Given the description of an element on the screen output the (x, y) to click on. 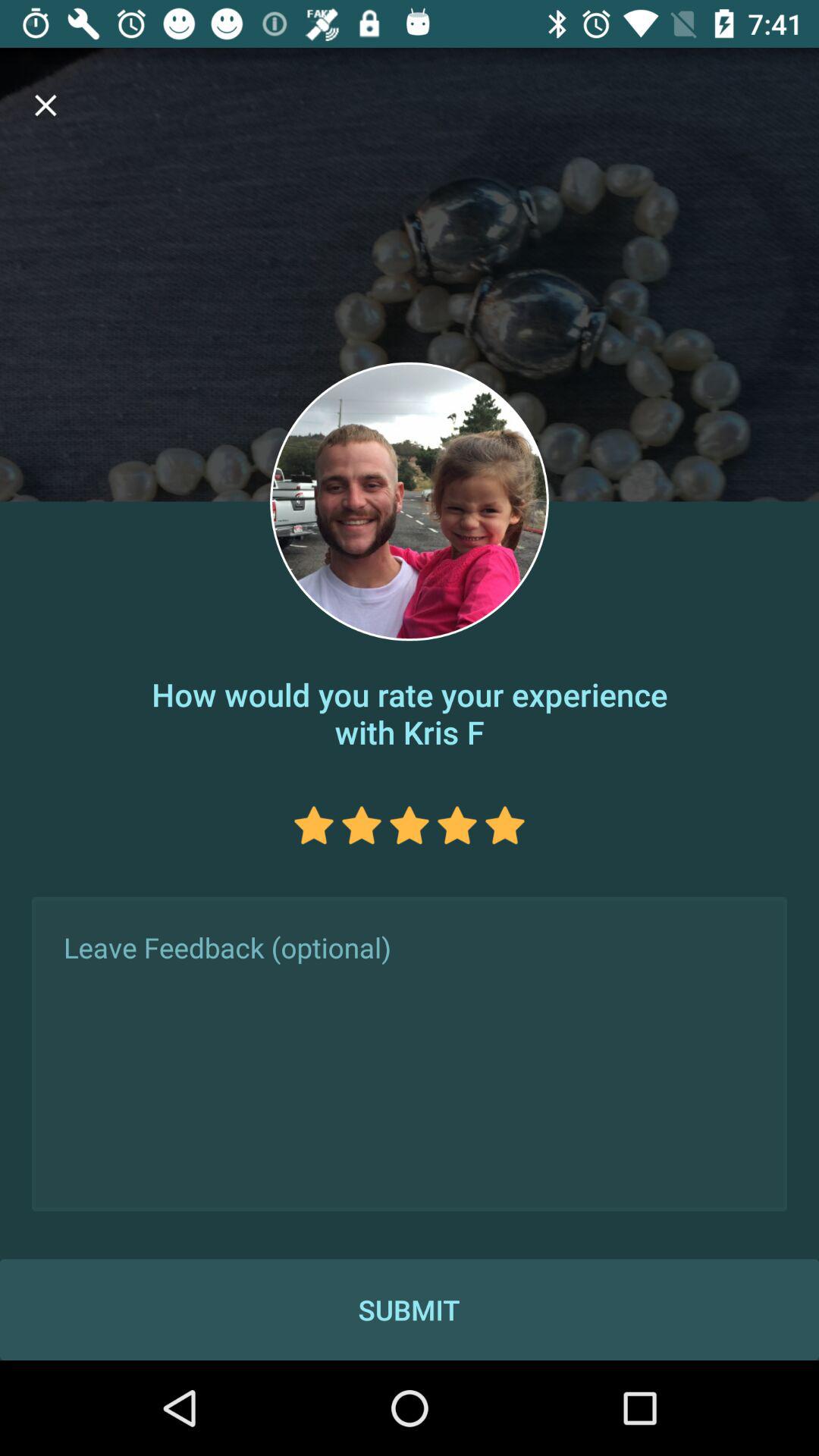
rate with 5 stars (504, 825)
